Given the description of an element on the screen output the (x, y) to click on. 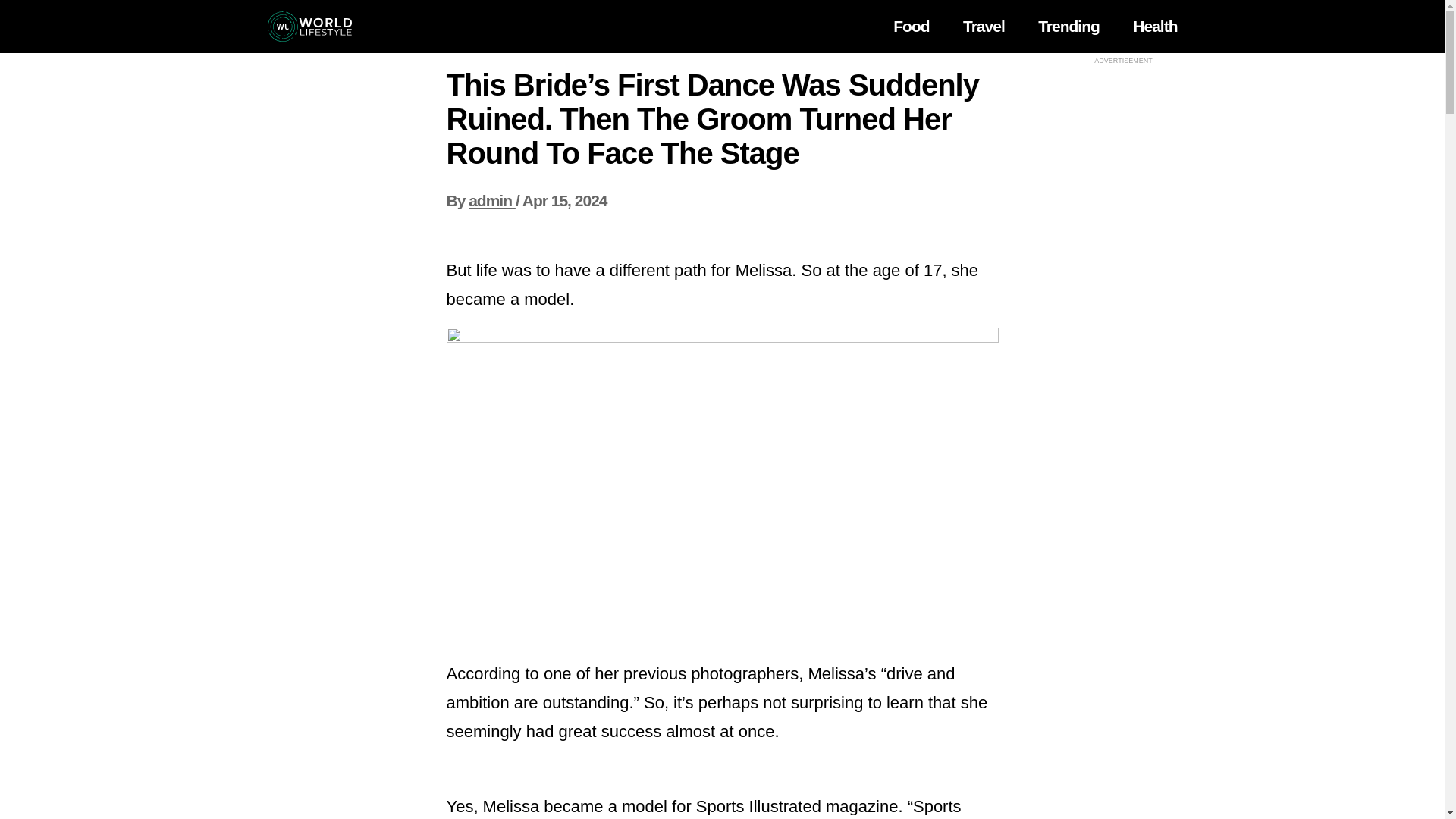
Travel (983, 26)
admin (491, 200)
Food (910, 26)
Trending (1068, 26)
Health (1154, 26)
